Given the description of an element on the screen output the (x, y) to click on. 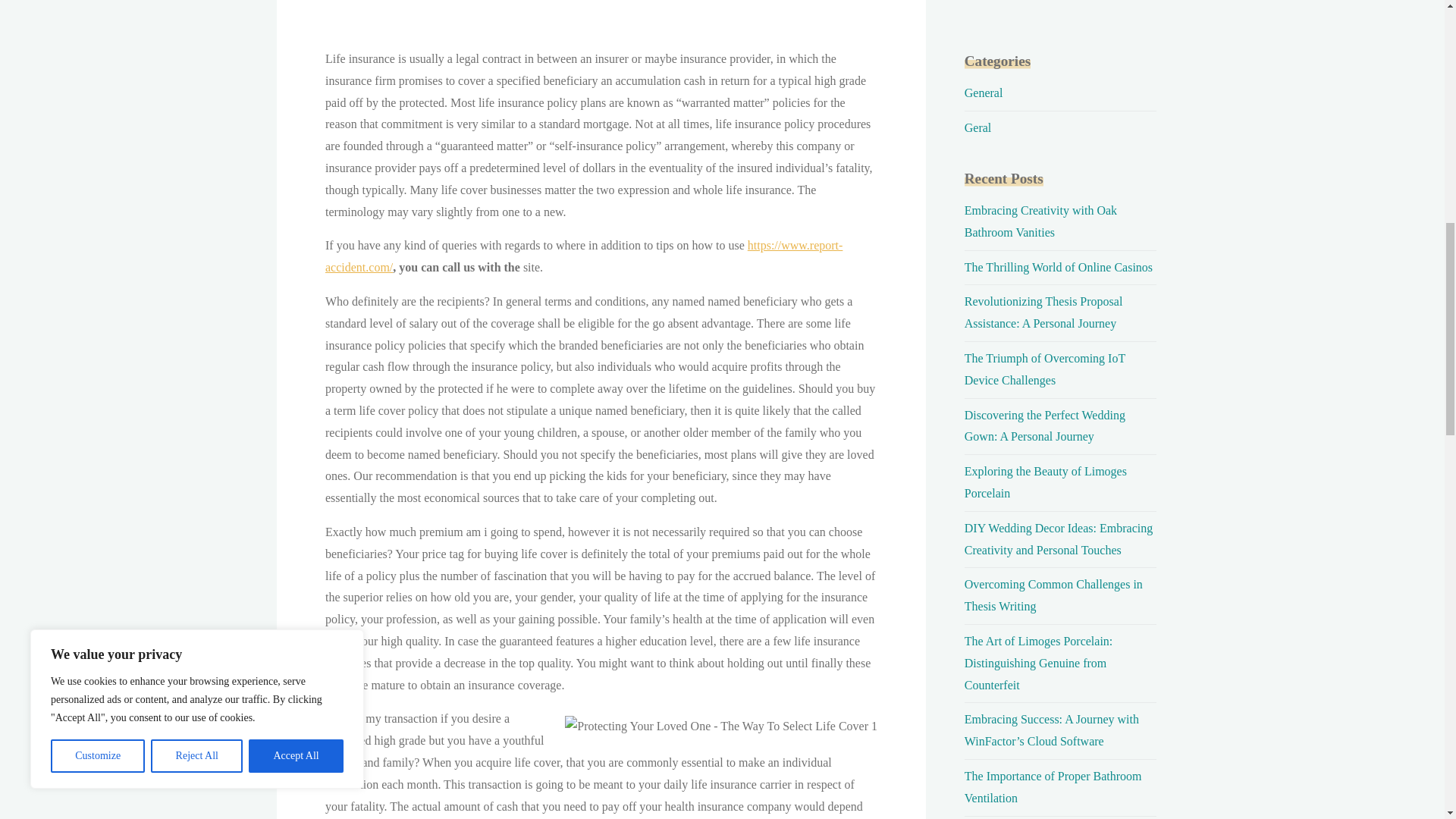
Embracing Creativity with Oak Bathroom Vanities (1039, 221)
The Thrilling World of Online Casinos (1058, 267)
Geral (977, 127)
General (983, 92)
